Given the description of an element on the screen output the (x, y) to click on. 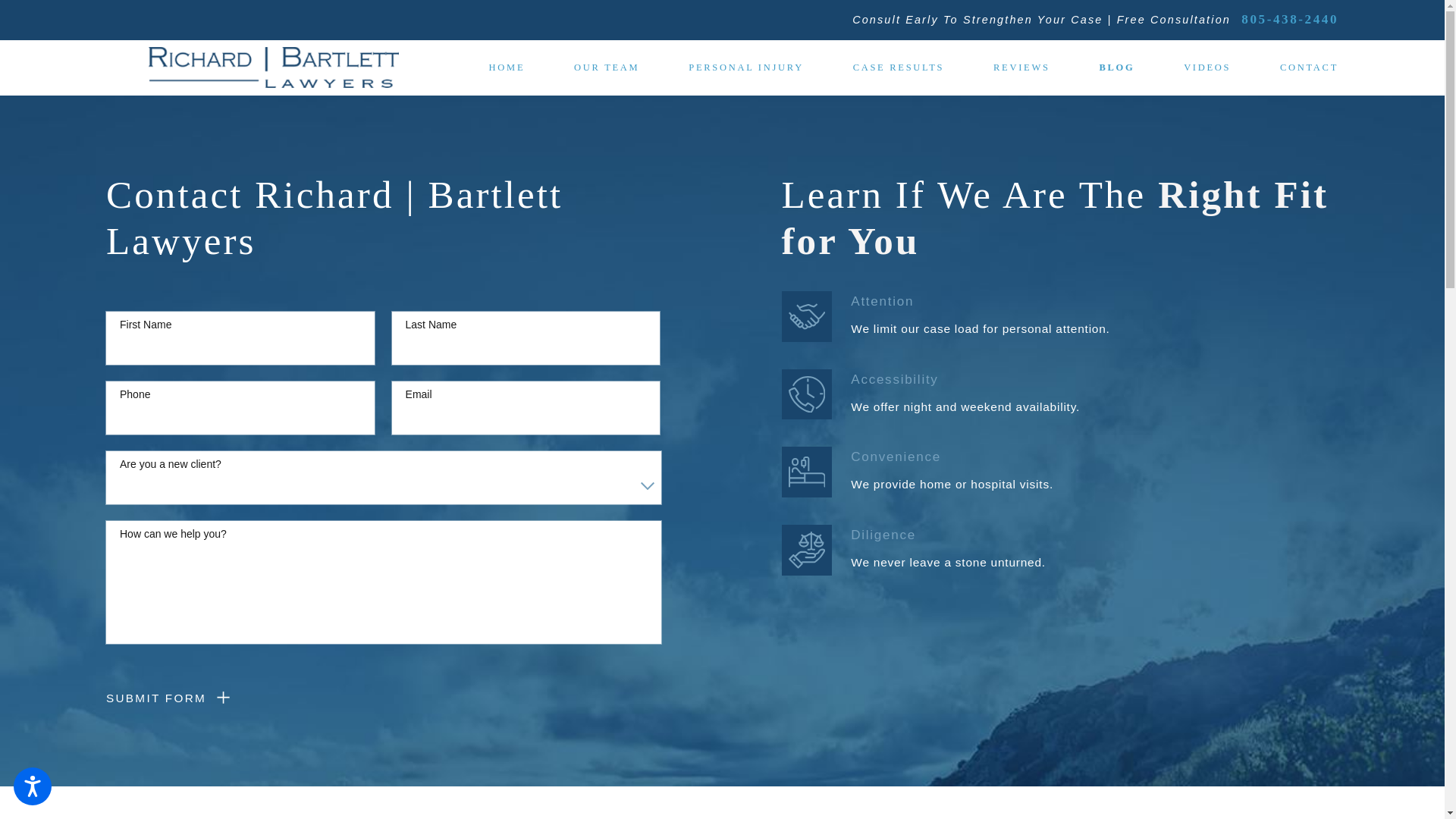
Open the accessibility options menu (31, 786)
CASE RESULTS (898, 67)
OUR TEAM (606, 67)
HOME (507, 67)
REVIEWS (1020, 67)
PERSONAL INJURY (745, 67)
805-438-2440 (1289, 19)
BLOG (1116, 67)
